Given the description of an element on the screen output the (x, y) to click on. 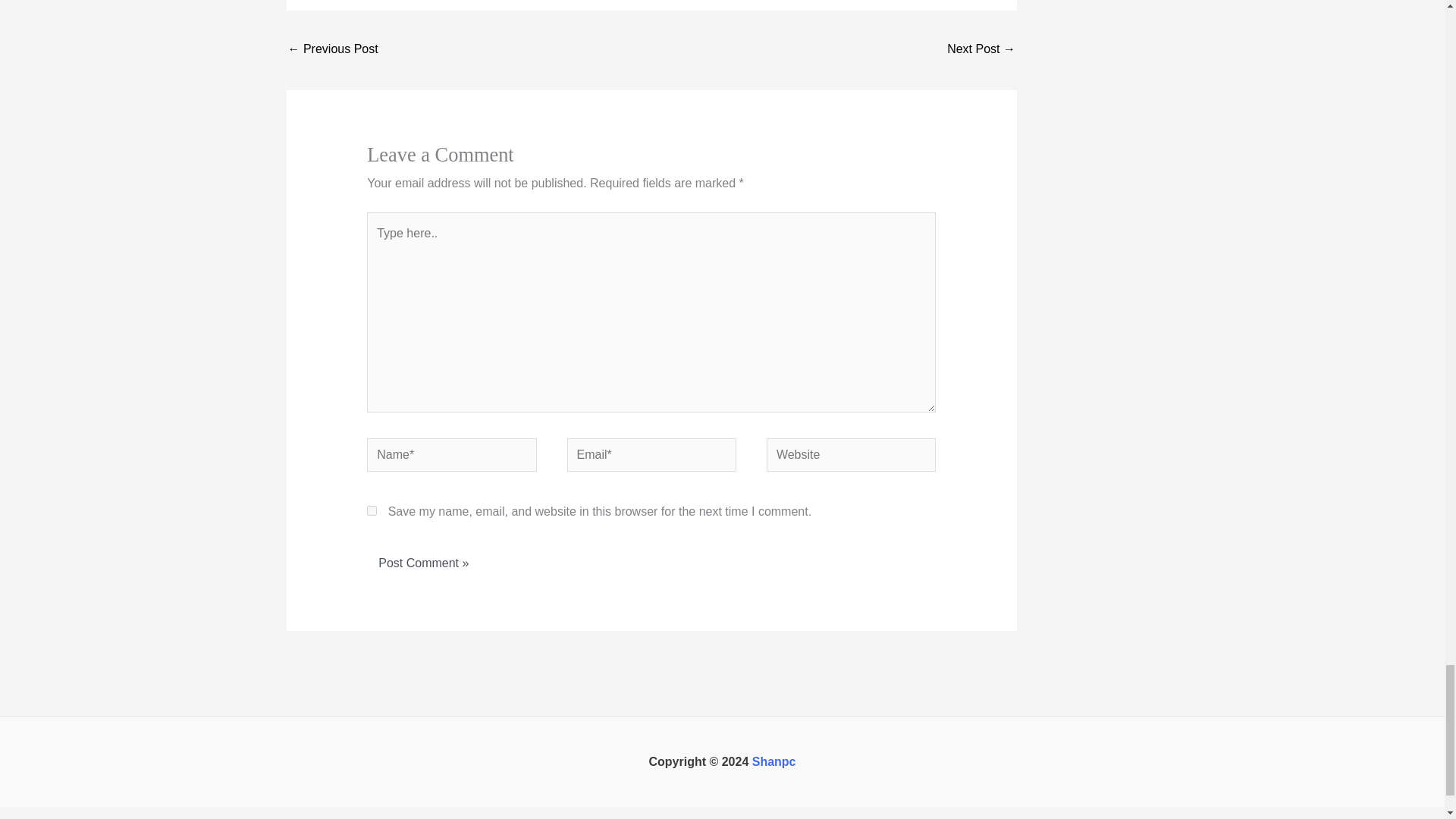
yes (371, 510)
